Given the description of an element on the screen output the (x, y) to click on. 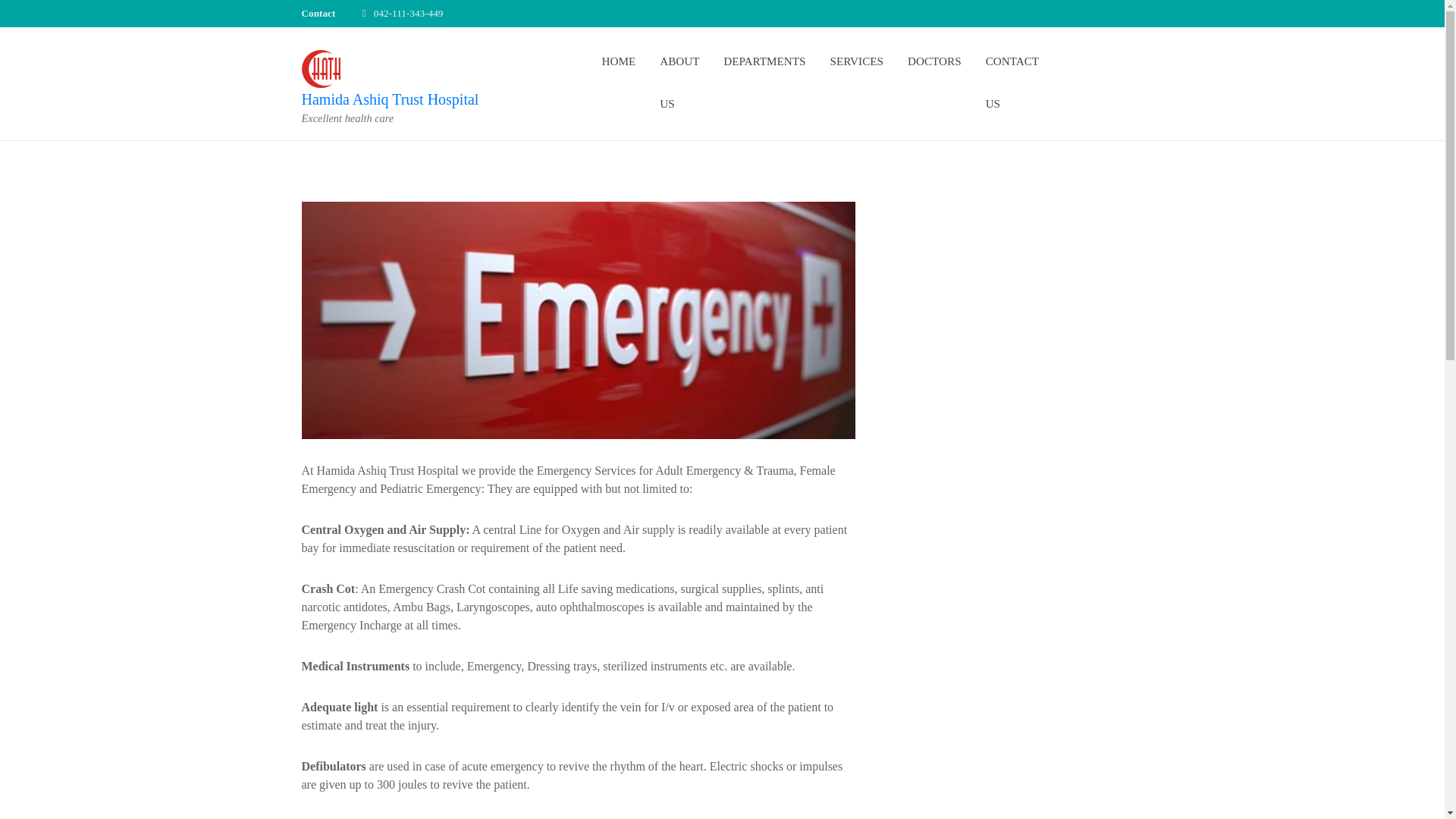
CONTACT US (1012, 81)
DEPARTMENTS (764, 60)
ABOUT US (678, 81)
DOCTORS (933, 60)
Hamida Ashiq Trust Hospital (390, 98)
SERVICES (856, 60)
042-111-343-449 (408, 12)
HOME (617, 60)
